Given the description of an element on the screen output the (x, y) to click on. 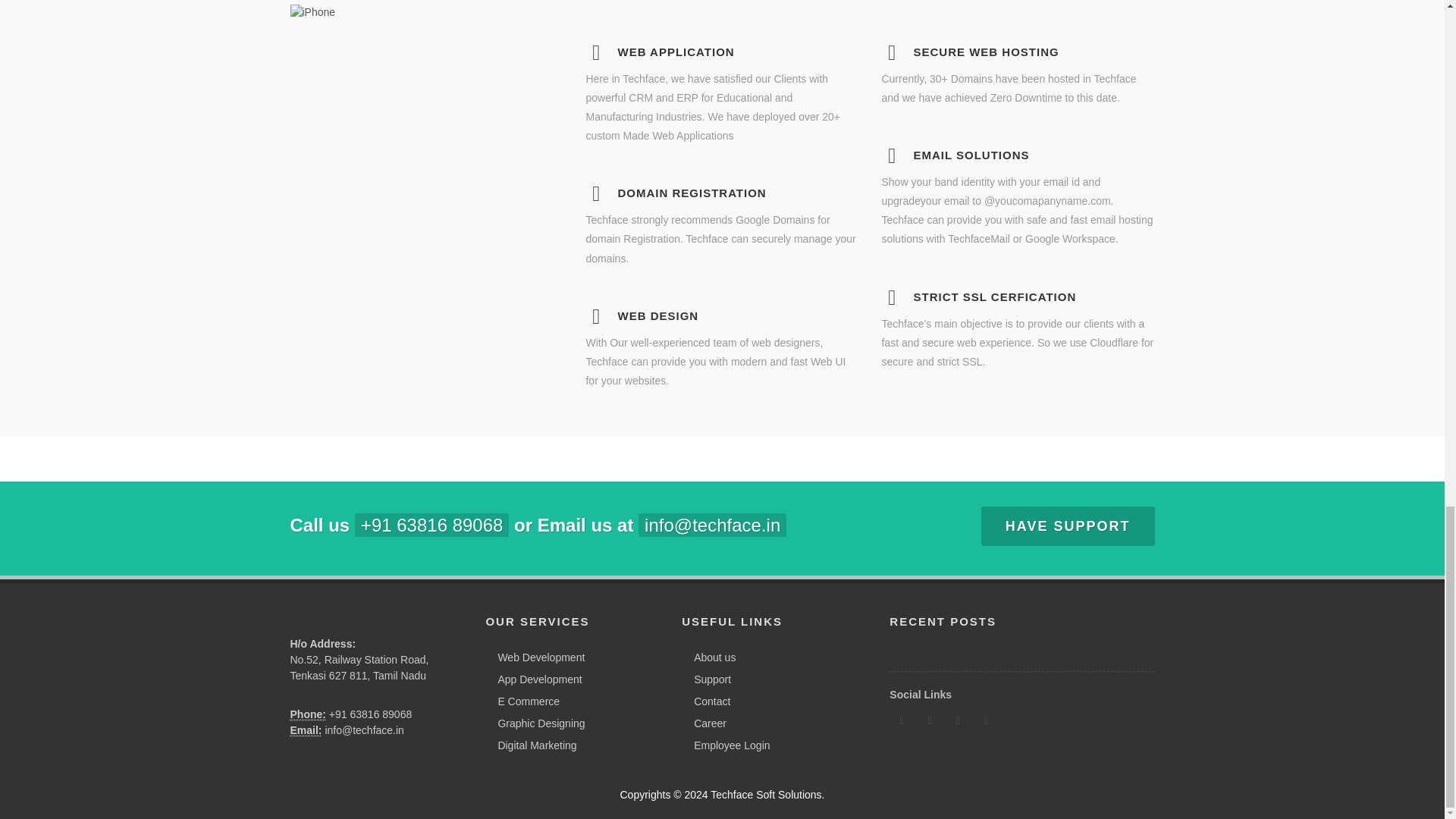
Email Address (305, 729)
Support (708, 679)
Employee Login (727, 745)
Social Links (920, 694)
Contact (708, 701)
App Development (535, 679)
E Commerce (524, 701)
Web Development (536, 657)
Digital Marketing (532, 745)
No.52, Railway Station Road, Tenkasi 627 811, Tamil Nadu (358, 667)
